Given the description of an element on the screen output the (x, y) to click on. 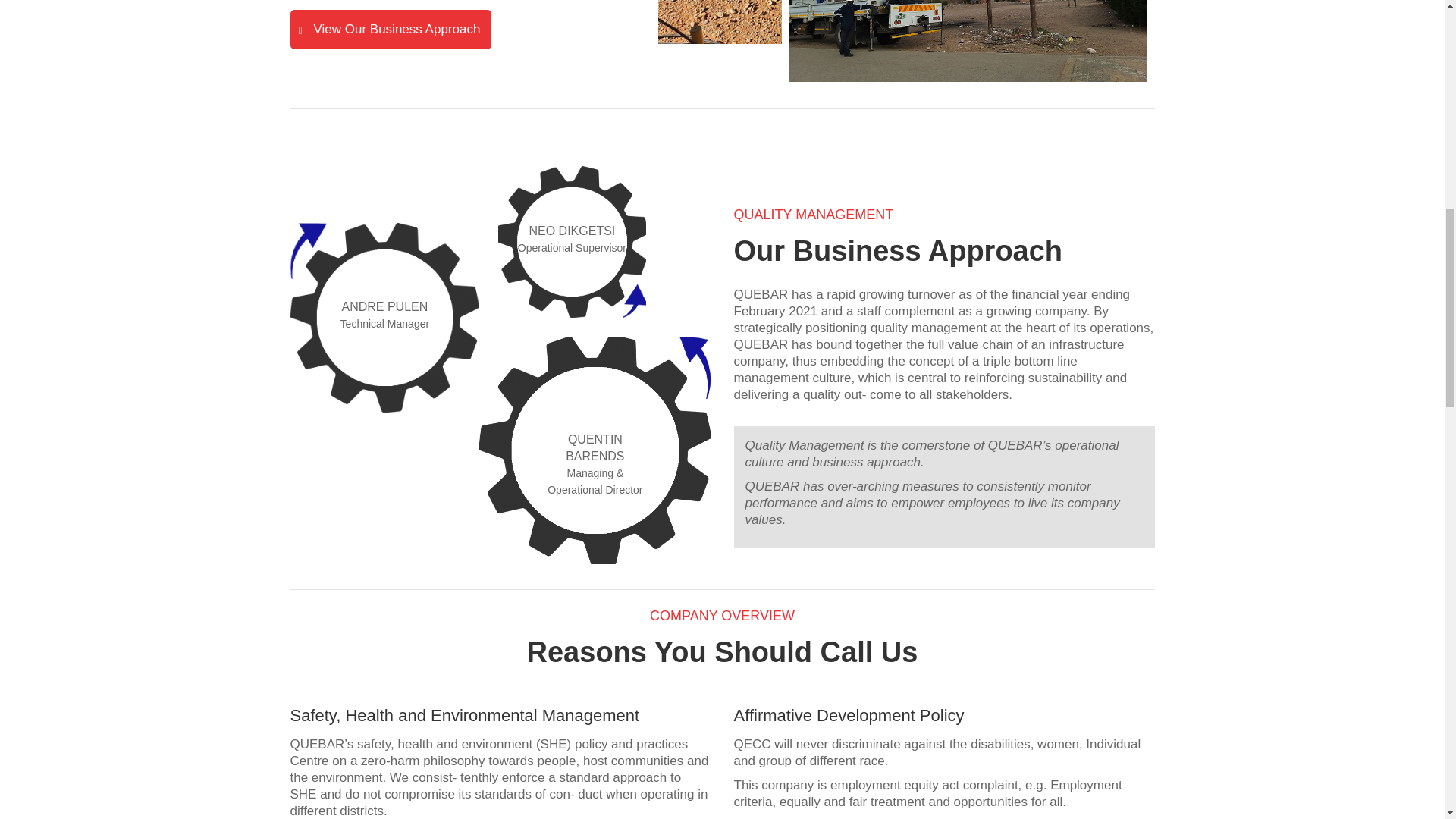
View Our Business Approach (390, 29)
View Our Business Approach (390, 29)
